Given the description of an element on the screen output the (x, y) to click on. 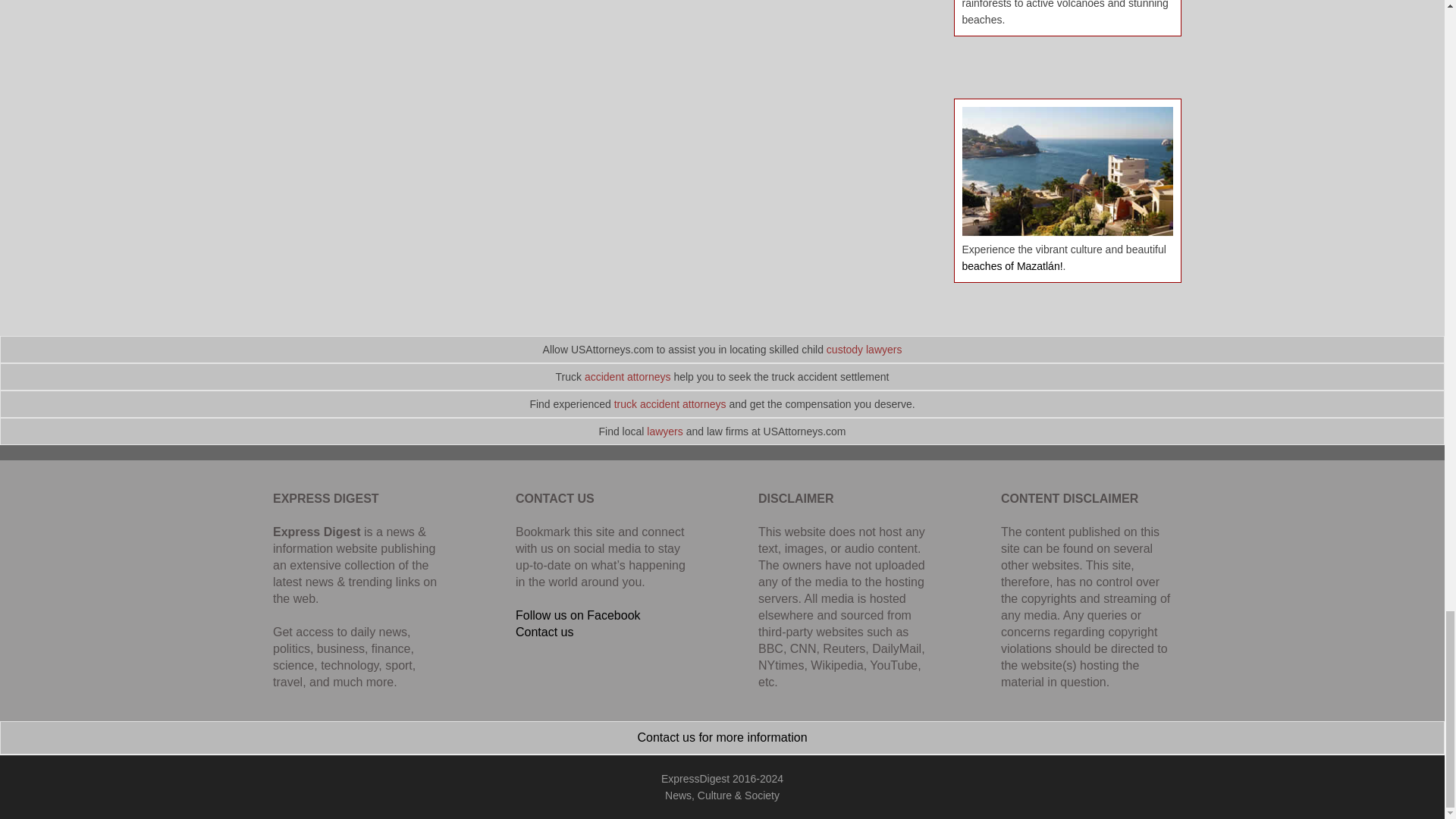
accident attorneys (628, 377)
custody lawyers (864, 349)
lawyers (664, 431)
truck accident attorneys (670, 404)
